Given the description of an element on the screen output the (x, y) to click on. 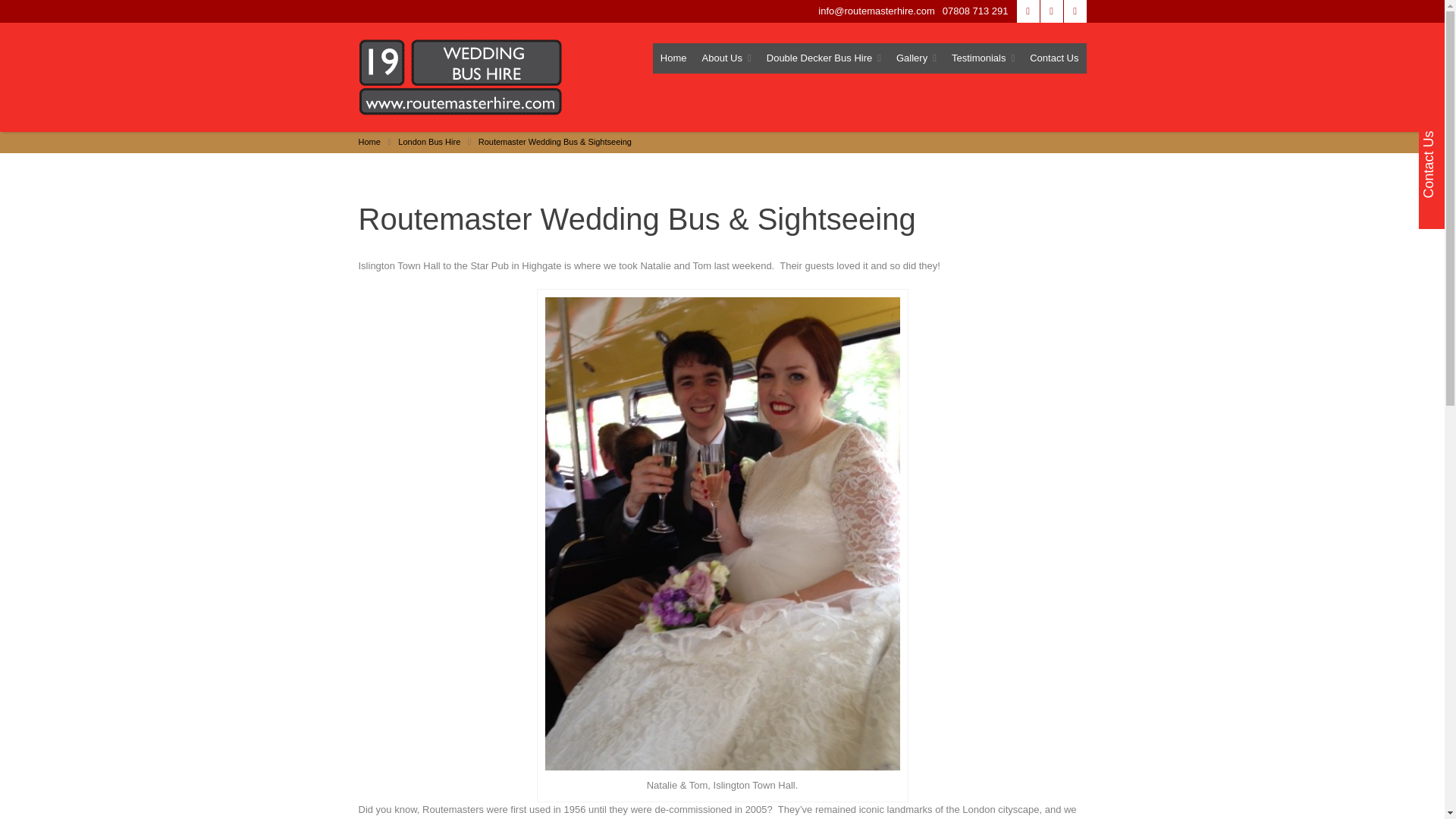
Home (673, 58)
About Us (726, 58)
Contact Us (1054, 58)
London Bus Hire (428, 141)
Gallery (915, 58)
Home (673, 58)
Testimonials (982, 58)
07808 713 291 (975, 10)
Double Decker Bus Hire (823, 58)
Home (369, 141)
